Given the description of an element on the screen output the (x, y) to click on. 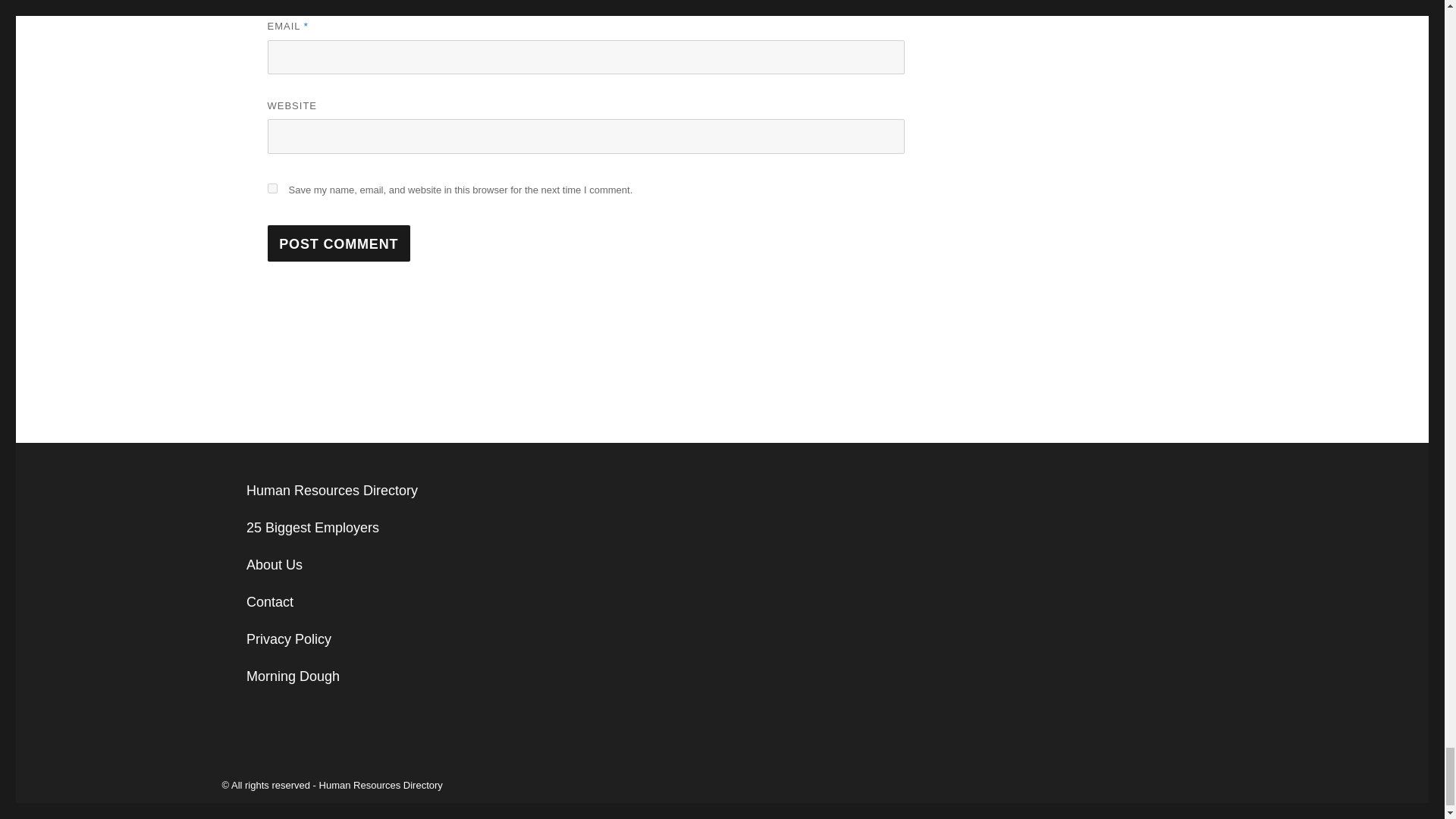
Post Comment (338, 243)
Post Comment (338, 243)
yes (271, 188)
